Given the description of an element on the screen output the (x, y) to click on. 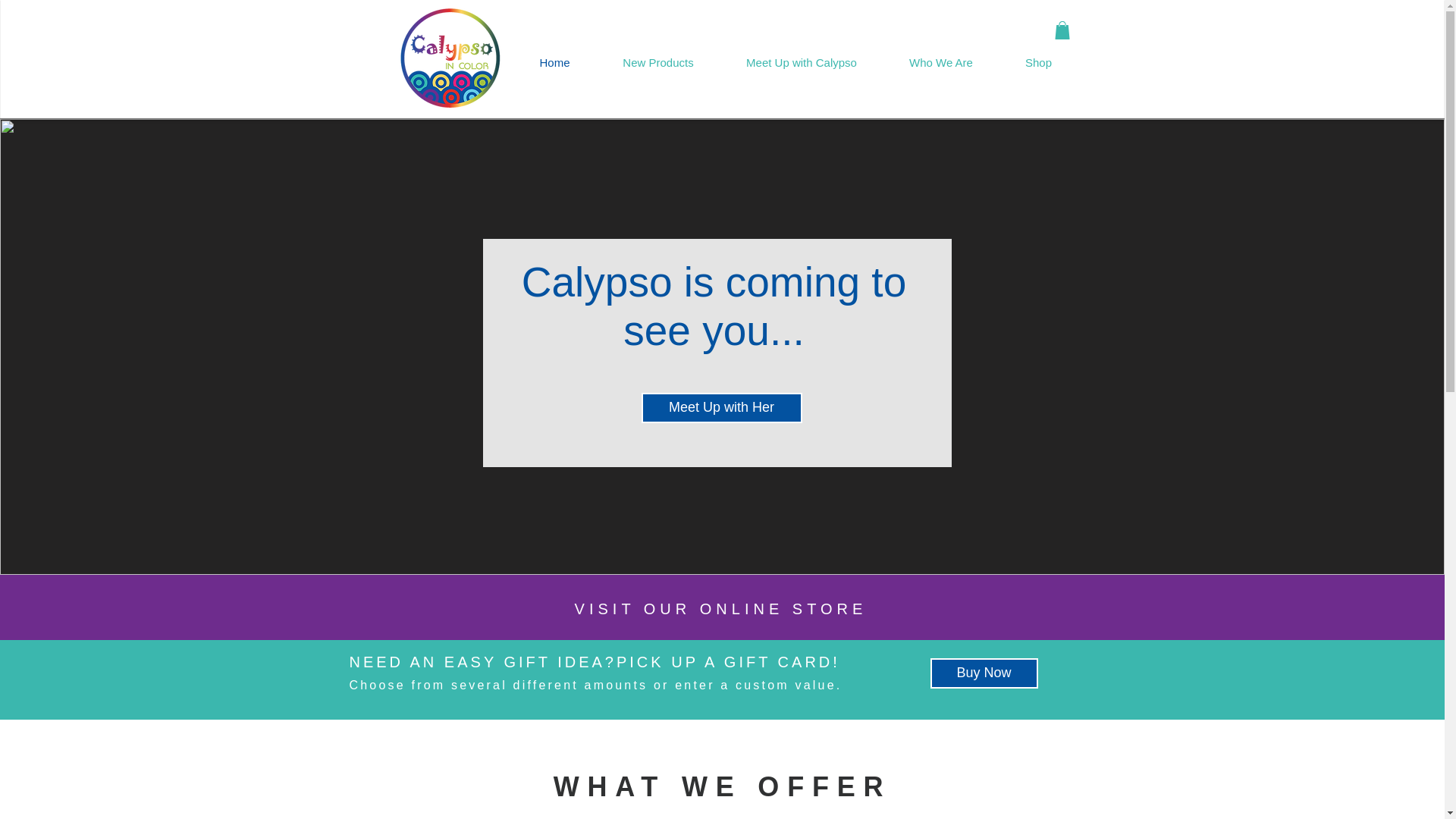
Meet Up with Calypso (801, 62)
NEED AN EASY GIFT IDEA?PICK UP A GIFT CARD! (594, 661)
Home (553, 62)
Buy Now (983, 673)
New Products (657, 62)
VISIT OUR ONLINE STORE (721, 608)
Meet Up with Her (722, 408)
Shop (1038, 62)
